Given the description of an element on the screen output the (x, y) to click on. 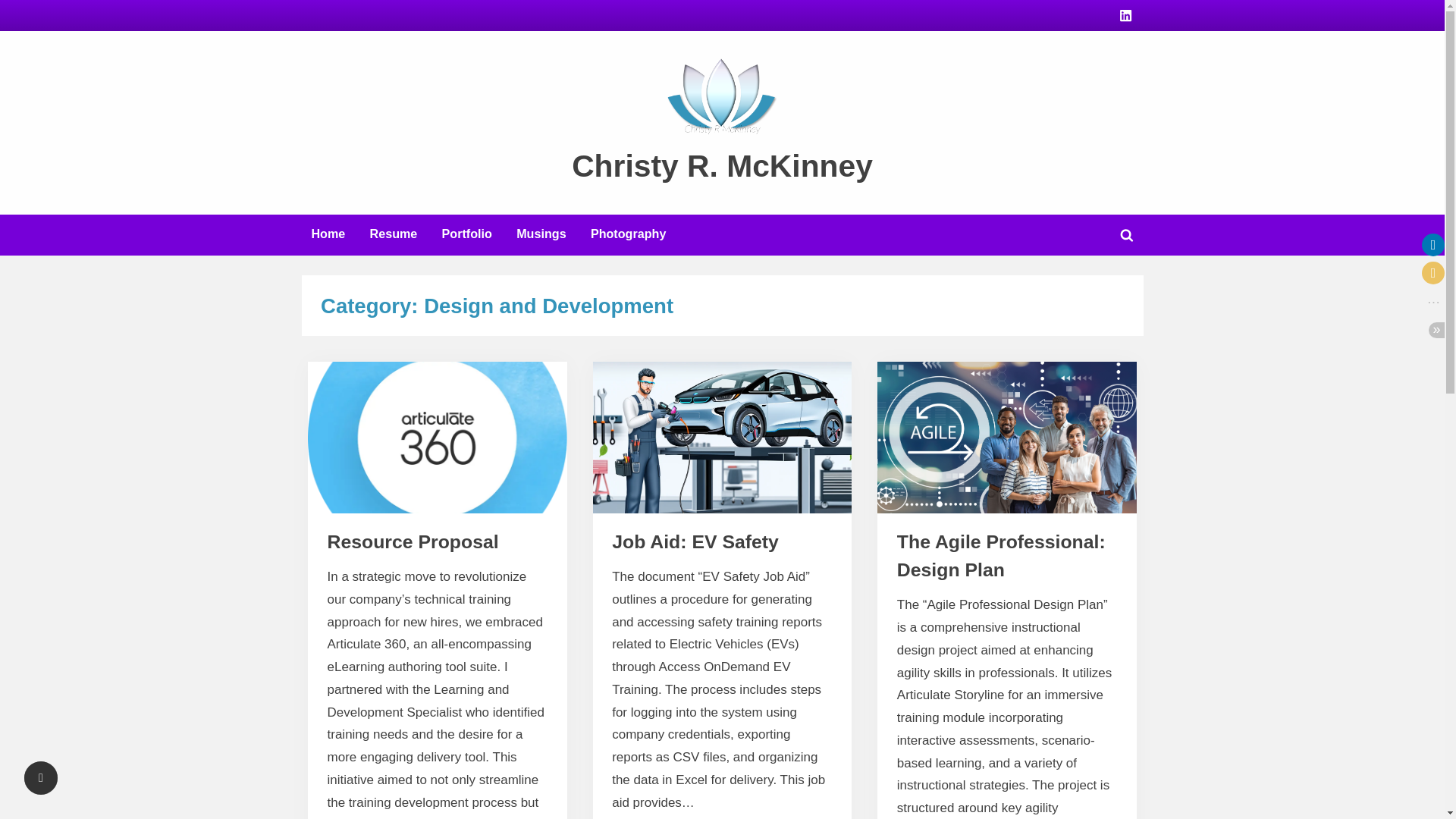
Resource Proposal (413, 541)
LinkedIn (1125, 14)
Musings (540, 235)
Christy R. McKinney (722, 165)
Portfolio (467, 235)
Photography (627, 235)
Design and Development (978, 553)
Resume (393, 235)
The Agile Professional: Design Plan (1000, 555)
Toggle search form (1126, 234)
Design and Development (692, 553)
Home (328, 235)
Design and Development (408, 553)
Job Aid: EV Safety (694, 541)
